Given the description of an element on the screen output the (x, y) to click on. 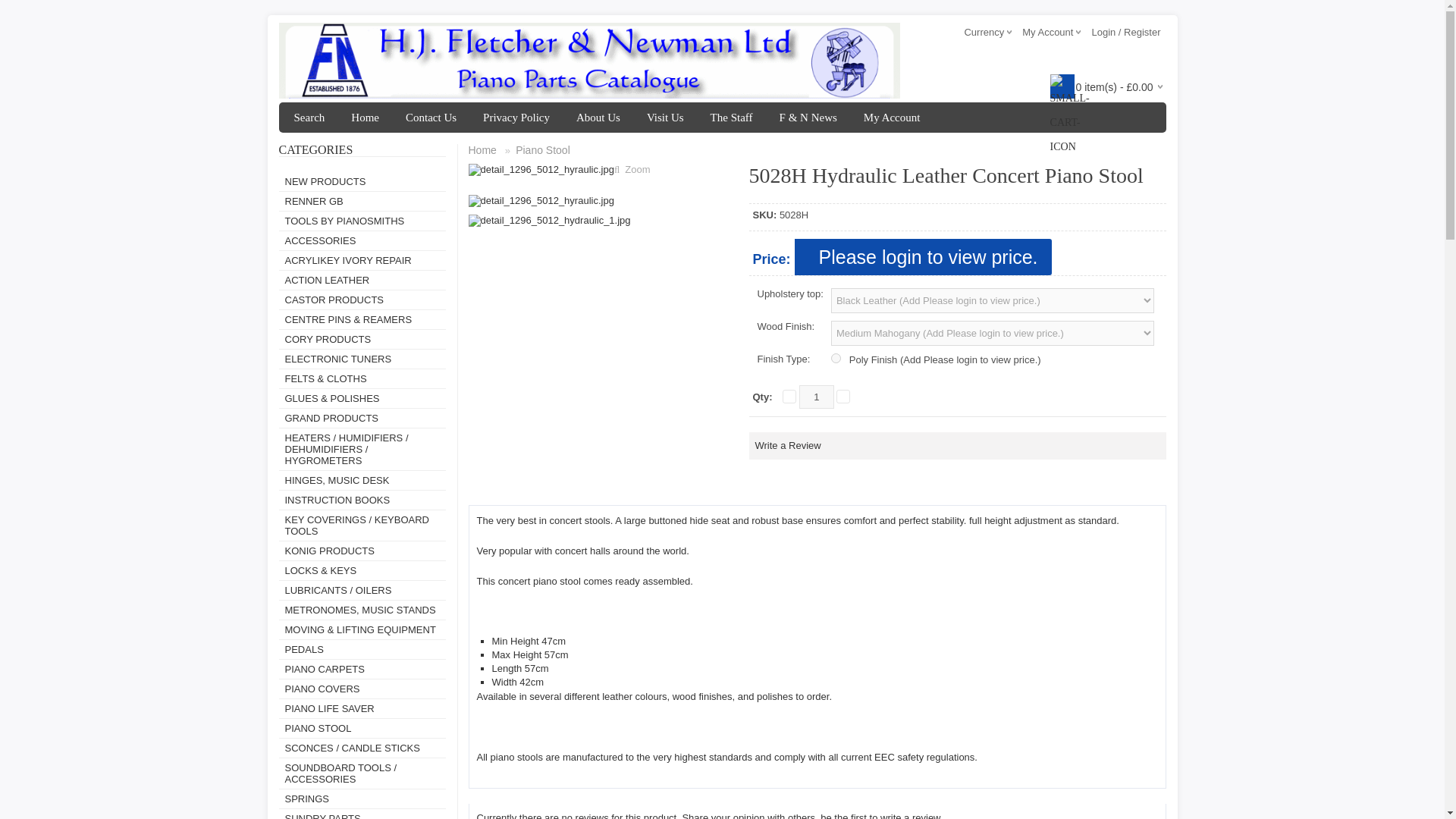
1 (816, 396)
1160 (836, 357)
Home (364, 117)
Search (309, 117)
